Given the description of an element on the screen output the (x, y) to click on. 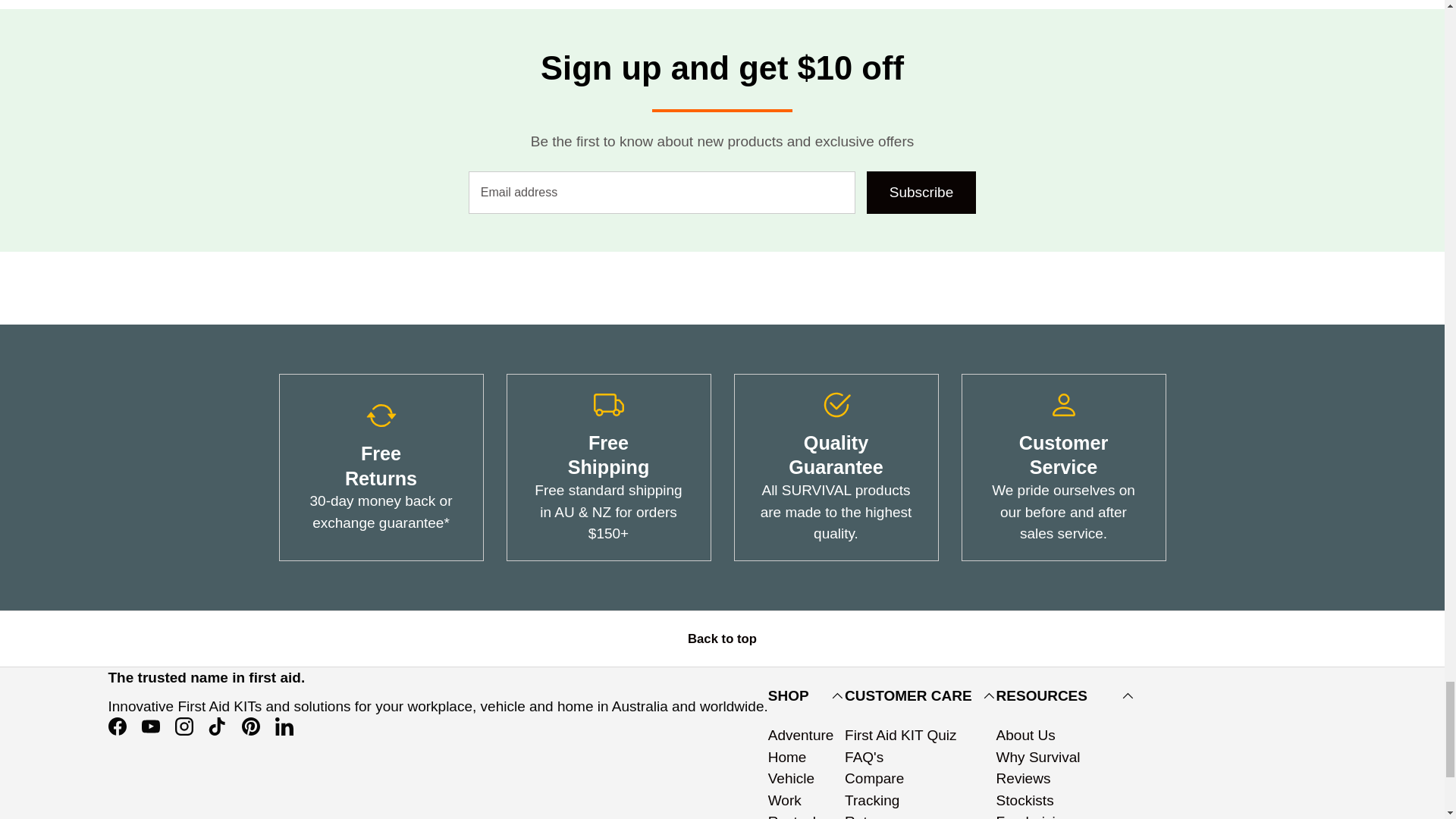
SURVIVAL on YouTube (150, 726)
SURVIVAL on Instagram (183, 726)
SURVIVAL on TikTok (216, 726)
SURVIVAL on Facebook (116, 726)
SURVIVAL on LinkedIn (282, 726)
SURVIVAL on Pinterest (249, 726)
